Given the description of an element on the screen output the (x, y) to click on. 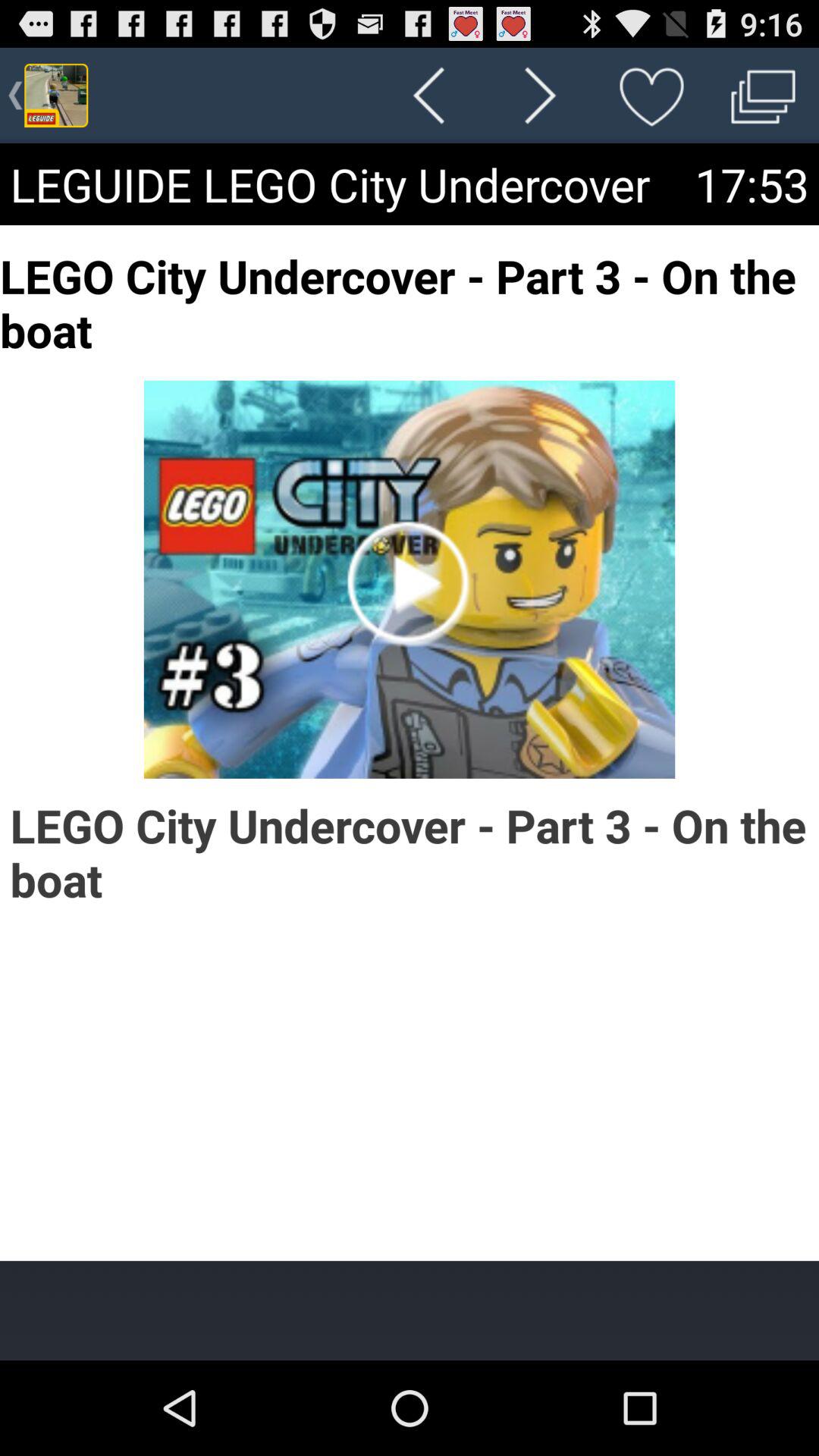
click the item below the lego city undercover app (409, 1310)
